Given the description of an element on the screen output the (x, y) to click on. 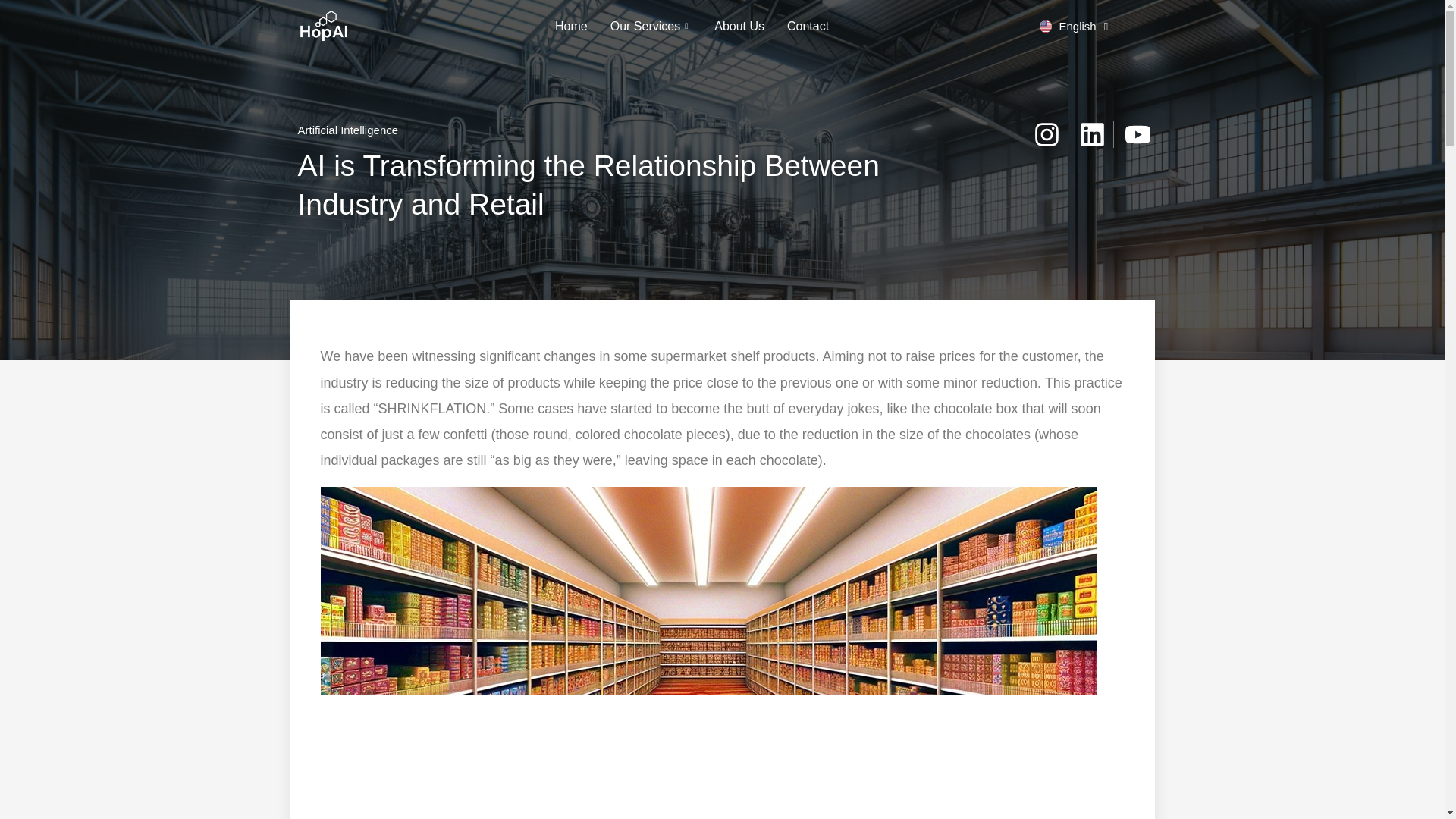
Contact (808, 26)
Artificial Intelligence (347, 129)
Our Services (650, 26)
English (1073, 25)
Home (570, 26)
About Us (739, 26)
